Given the description of an element on the screen output the (x, y) to click on. 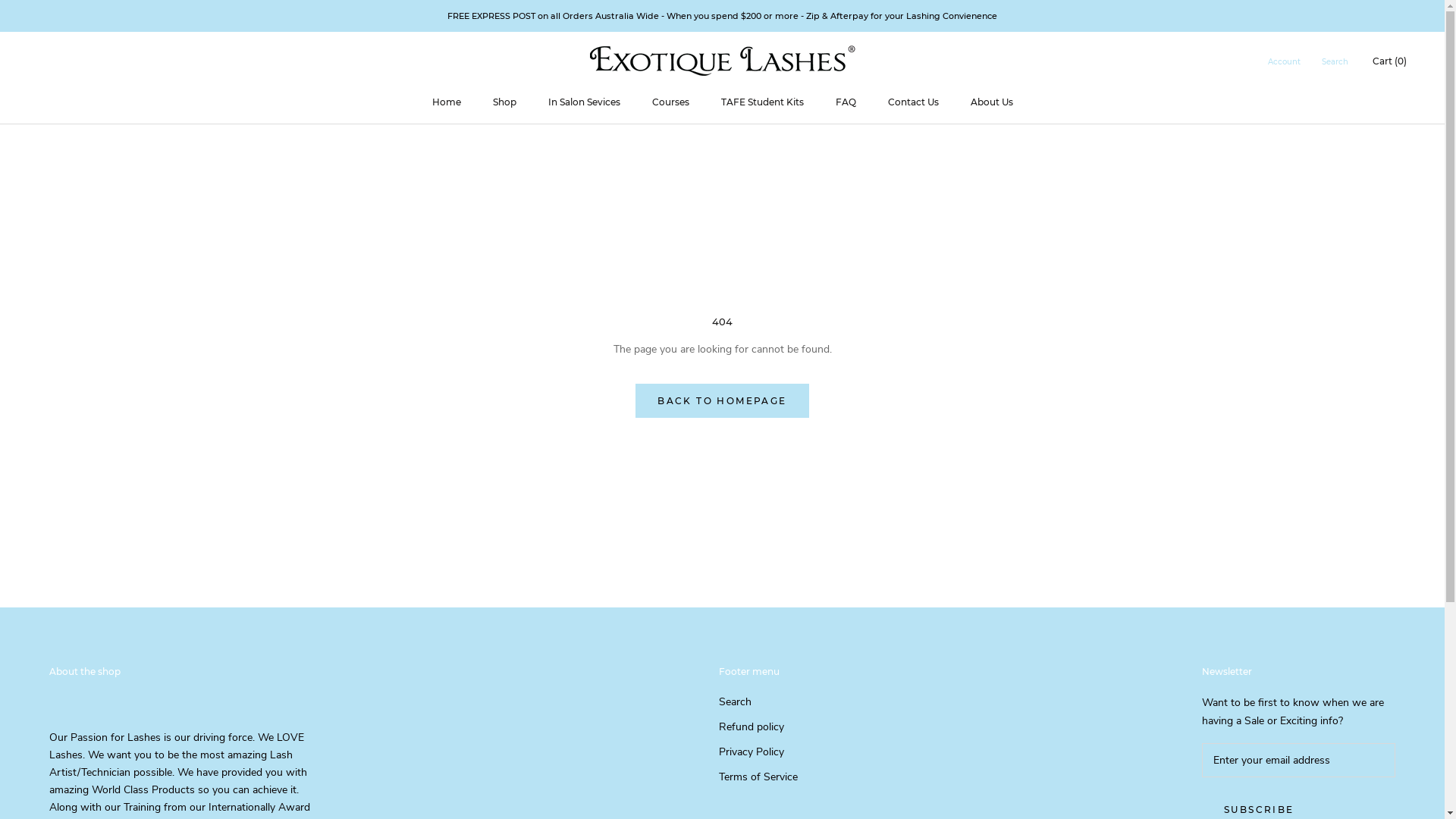
Refund policy Element type: text (757, 726)
Contact Us
Contact Us Element type: text (912, 101)
Courses Element type: text (670, 101)
Search Element type: text (757, 701)
TAFE Student Kits
TAFE Student Kits Element type: text (761, 101)
Shop Element type: text (504, 101)
Home
Home Element type: text (446, 101)
About Us
About Us Element type: text (991, 101)
In Salon Sevices
In Salon Sevices Element type: text (583, 101)
BACK TO HOMEPAGE Element type: text (721, 400)
Cart (0) Element type: text (1389, 60)
Account Element type: text (1283, 62)
FAQ
FAQ Element type: text (845, 101)
Privacy Policy Element type: text (757, 751)
Search Element type: text (1334, 62)
Terms of Service Element type: text (757, 776)
